Given the description of an element on the screen output the (x, y) to click on. 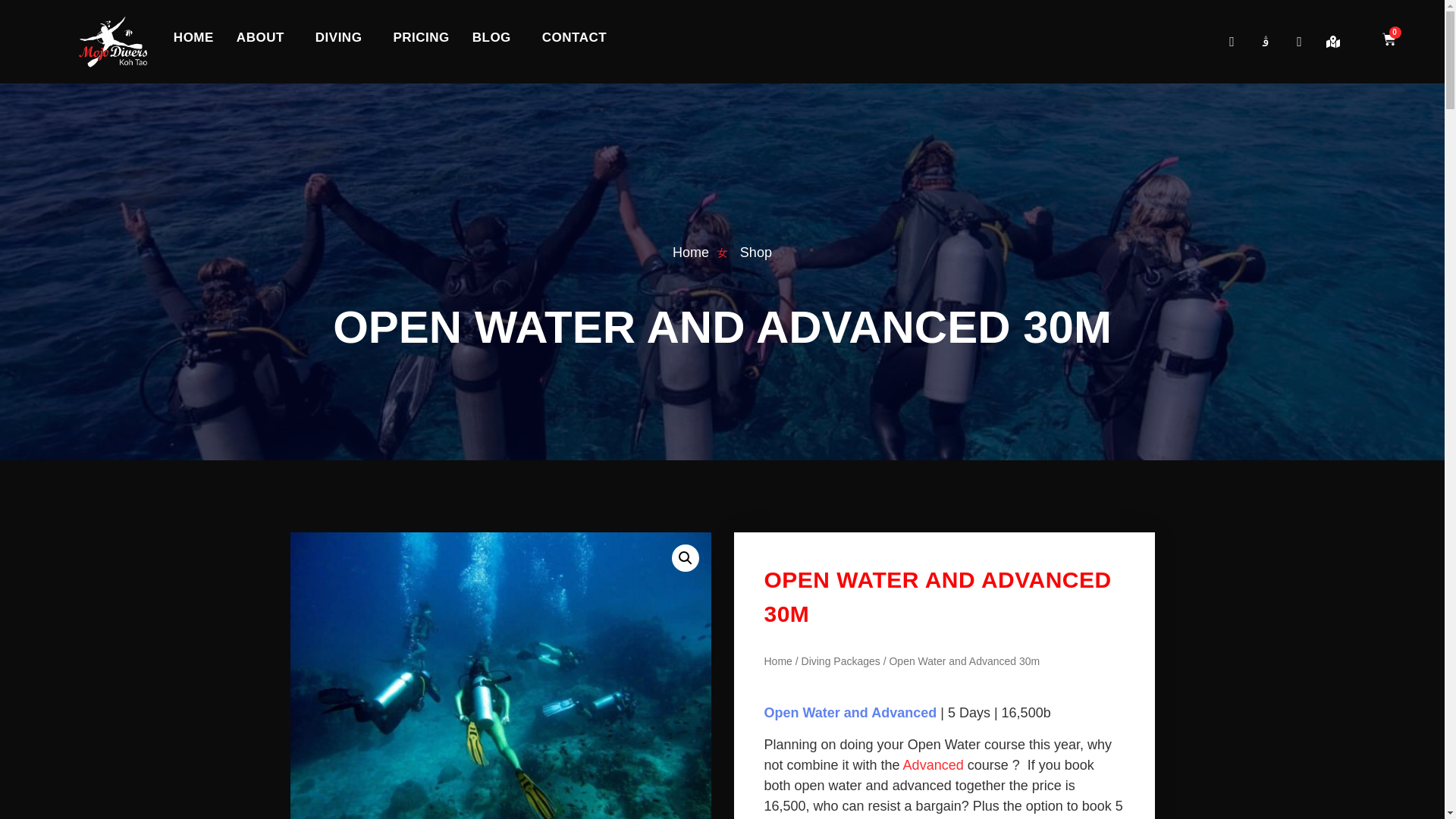
BLOG (496, 37)
ABOUT (264, 37)
DIVING (342, 37)
HOME (193, 37)
open-water-dive-.jpg (499, 675)
CONTACT (574, 37)
PRICING (420, 37)
